Given the description of an element on the screen output the (x, y) to click on. 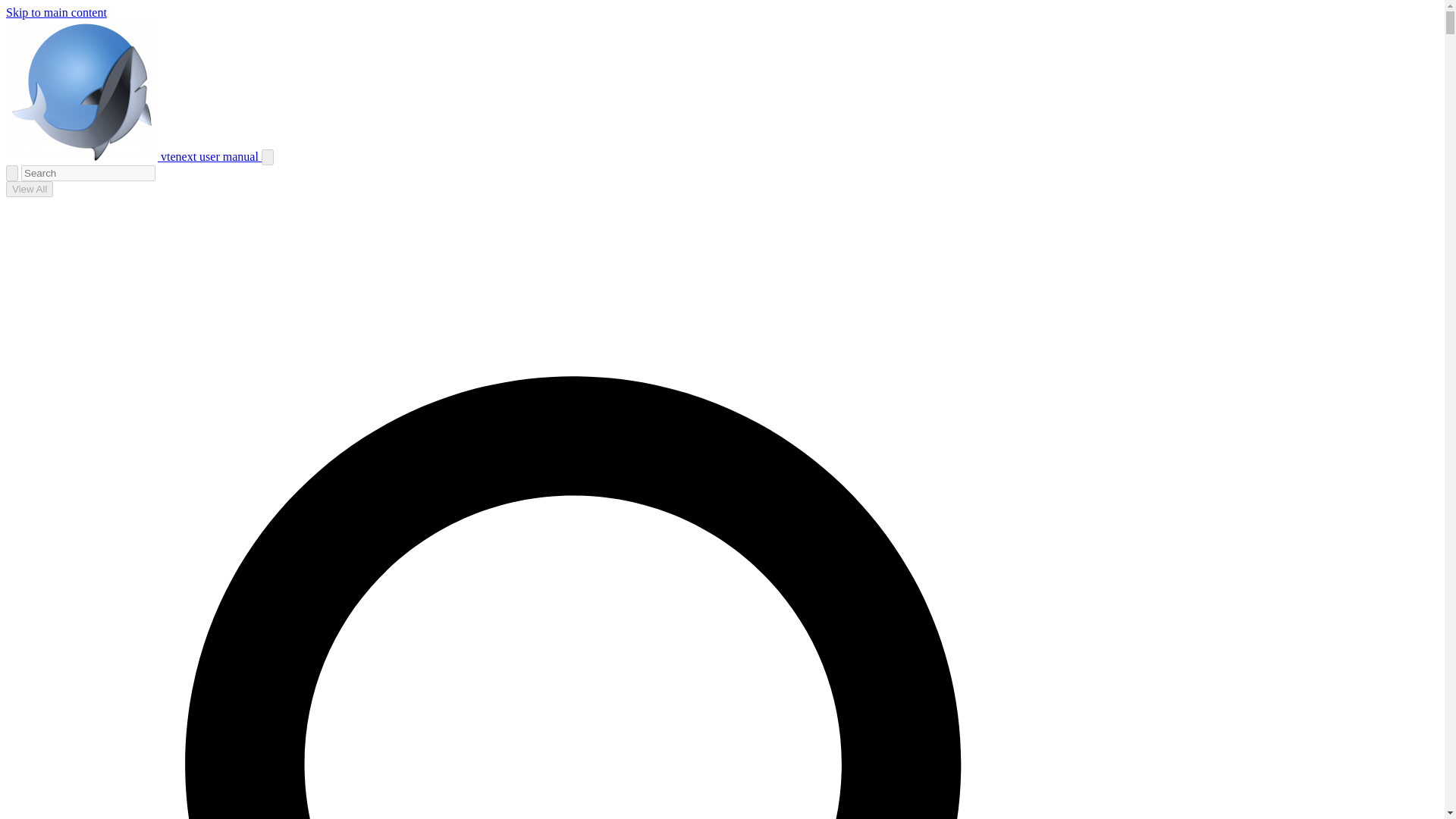
View All (28, 188)
vtenext user manual (133, 155)
Skip to main content (55, 11)
